Given the description of an element on the screen output the (x, y) to click on. 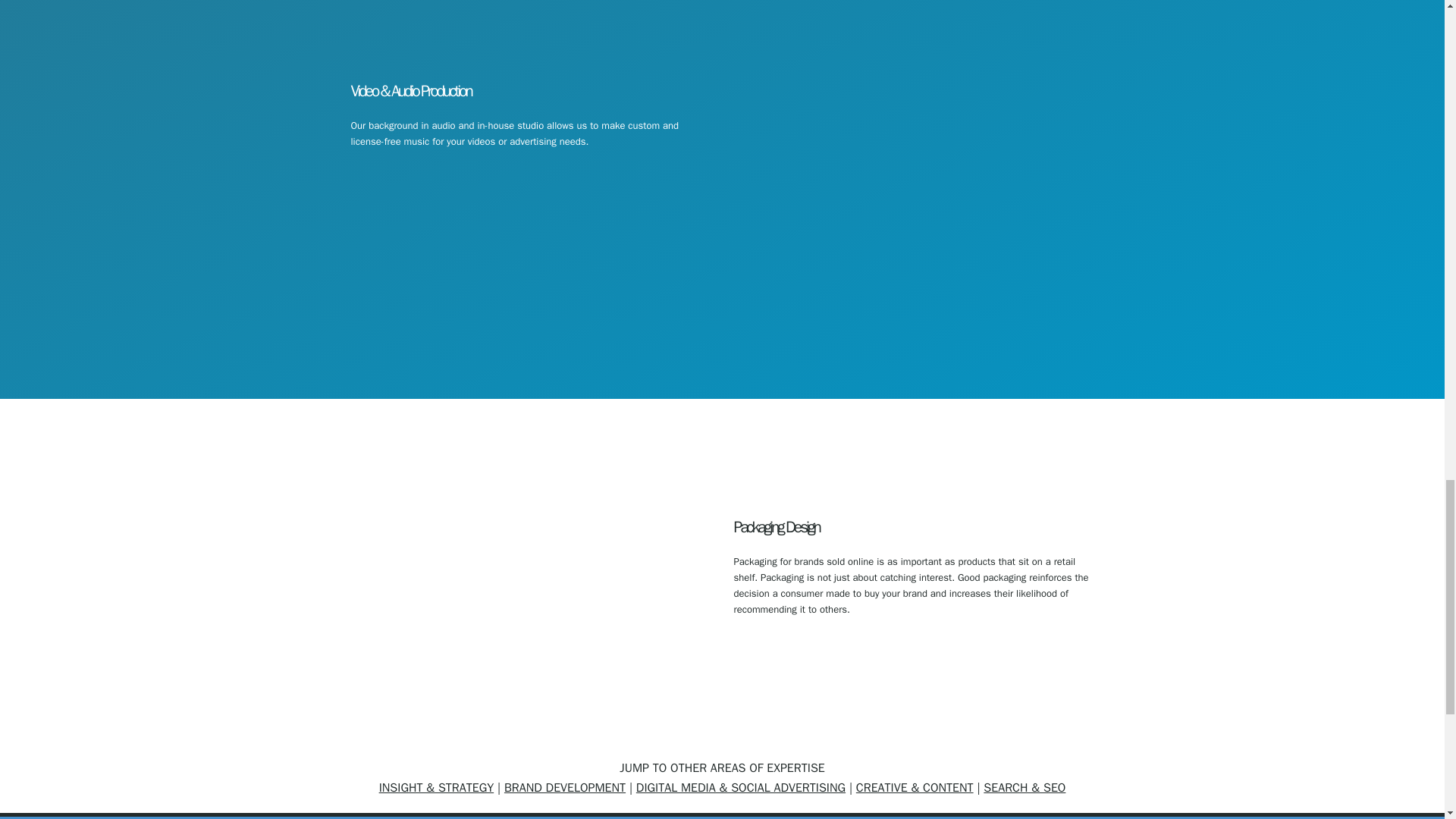
Packaging (530, 587)
BRAND DEVELOPMENT (564, 787)
VideoProduction (913, 193)
